Given the description of an element on the screen output the (x, y) to click on. 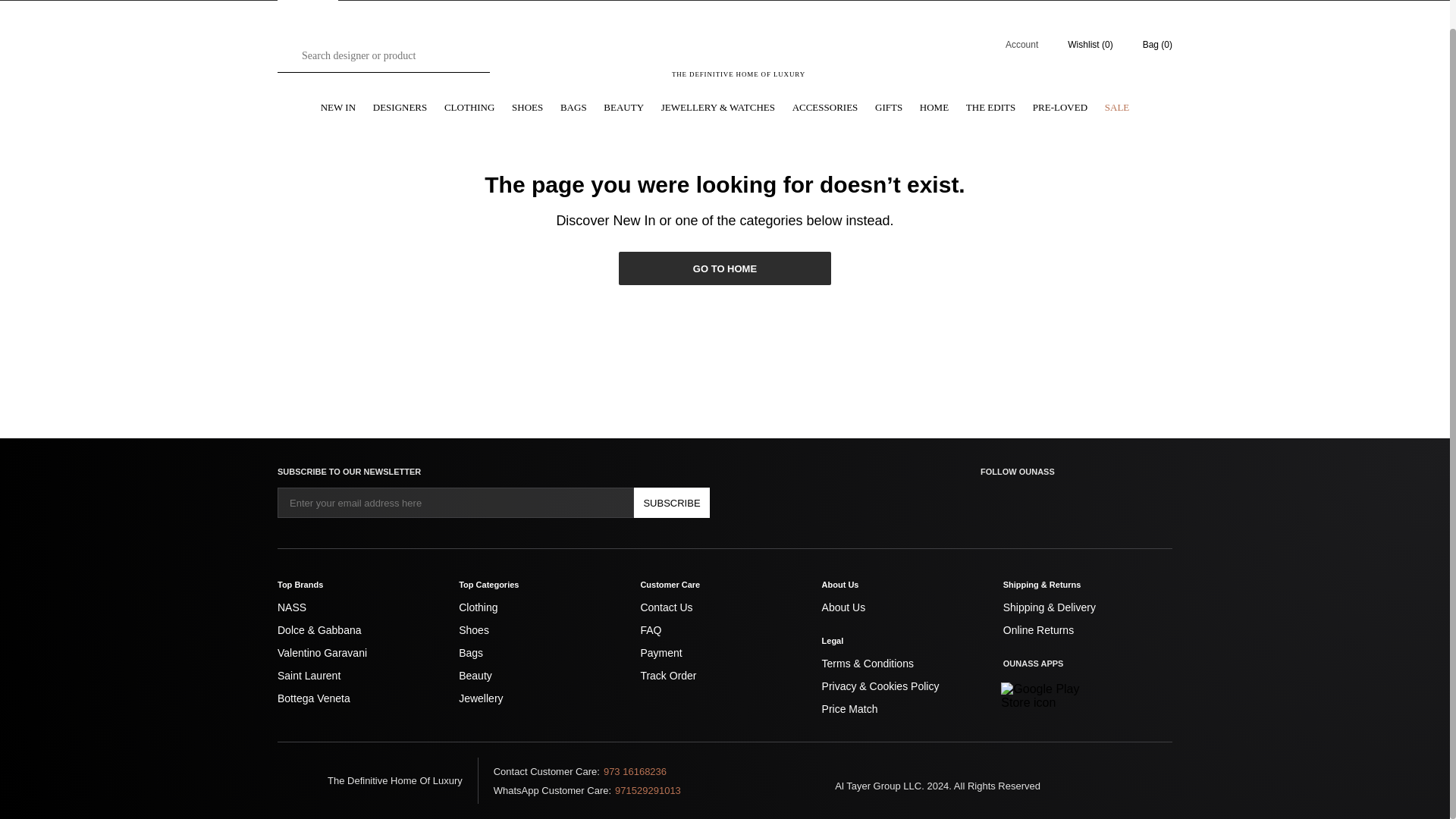
DESIGNERS (400, 108)
BAGS (573, 108)
ACCESSORIES (825, 108)
KIDS (429, 0)
SHOES (527, 108)
THE EDITS (990, 108)
CLOTHING (469, 108)
NEW IN (337, 108)
WOMEN (307, 0)
